Given the description of an element on the screen output the (x, y) to click on. 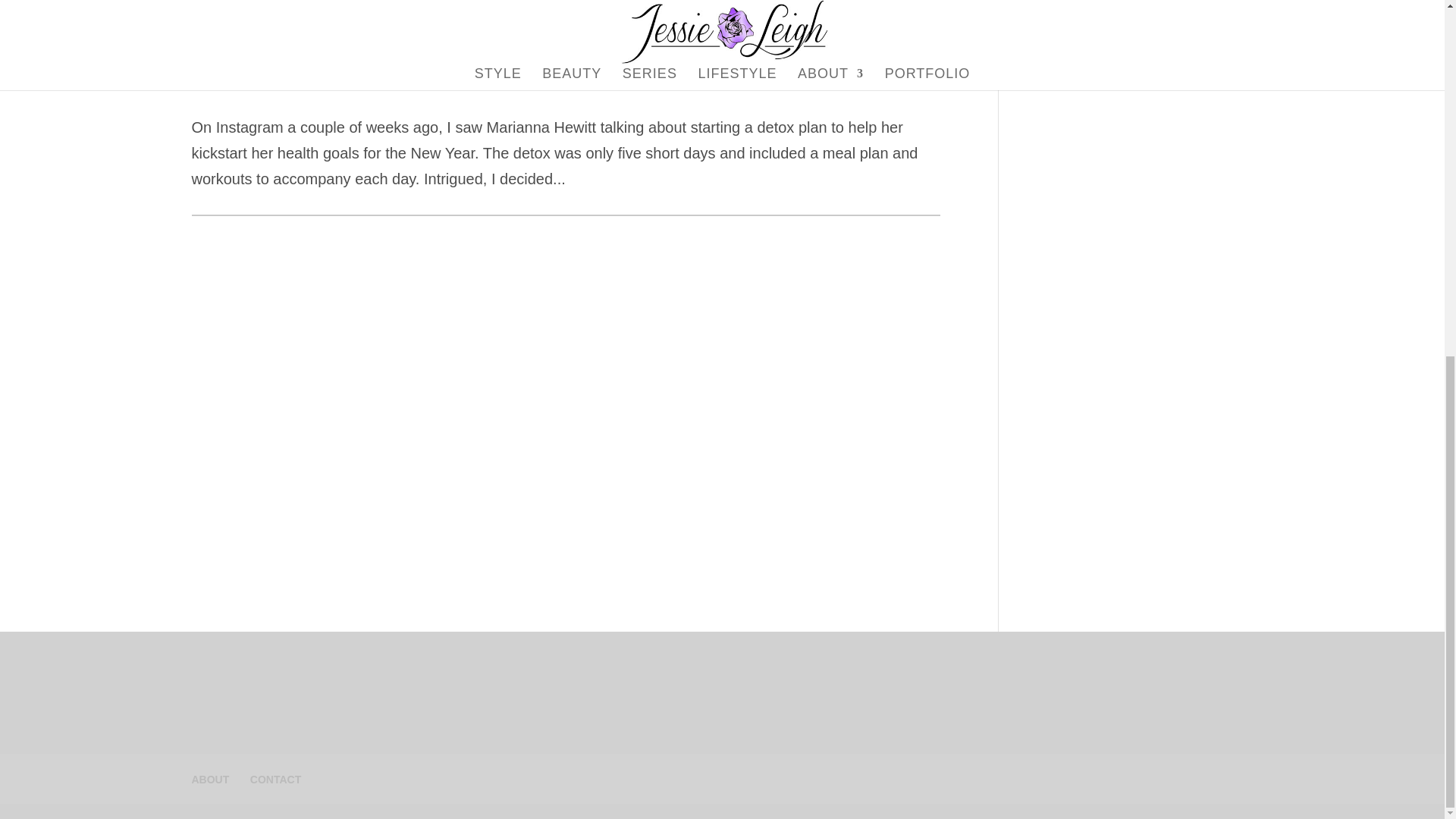
WELLNESS (292, 85)
How to Succeed at the Tone It Up 5 Day Detox (450, 41)
Advertisement (1136, 183)
CONTACT (275, 779)
Advertisement (1136, 479)
ABOUT (209, 779)
